Given the description of an element on the screen output the (x, y) to click on. 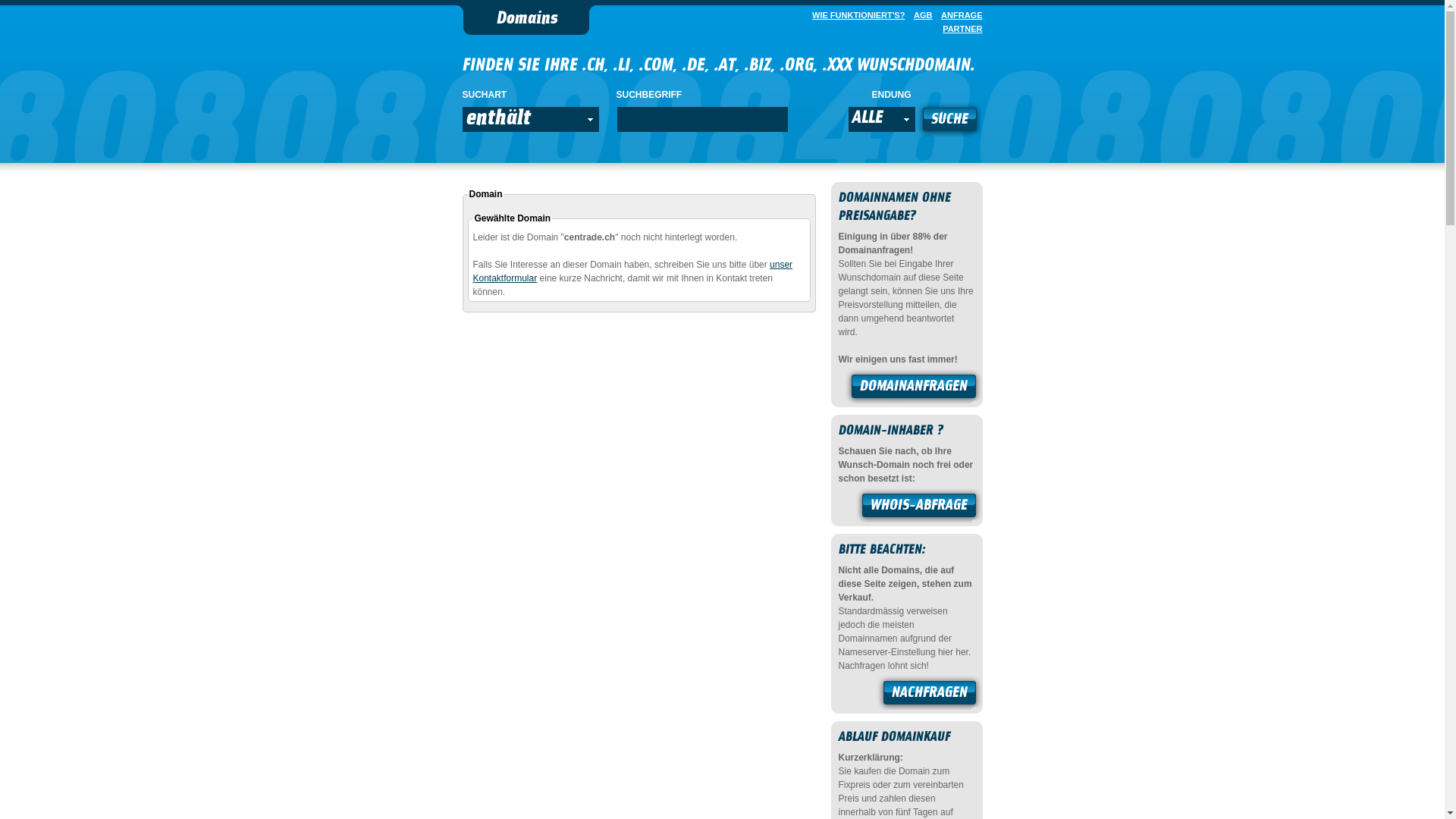
PARTNER Element type: text (959, 28)
Domains Element type: text (526, 19)
unser Kontaktformular Element type: text (633, 271)
WHOIS-ABFRAGE Element type: text (918, 507)
SUCHE Element type: text (949, 121)
DOMAINANFRAGEN Element type: text (913, 387)
AGB Element type: text (919, 14)
WIE FUNKTIONIERT'S? Element type: text (855, 14)
ANFRAGE Element type: text (958, 14)
NACHFRAGEN Element type: text (929, 694)
